Given the description of an element on the screen output the (x, y) to click on. 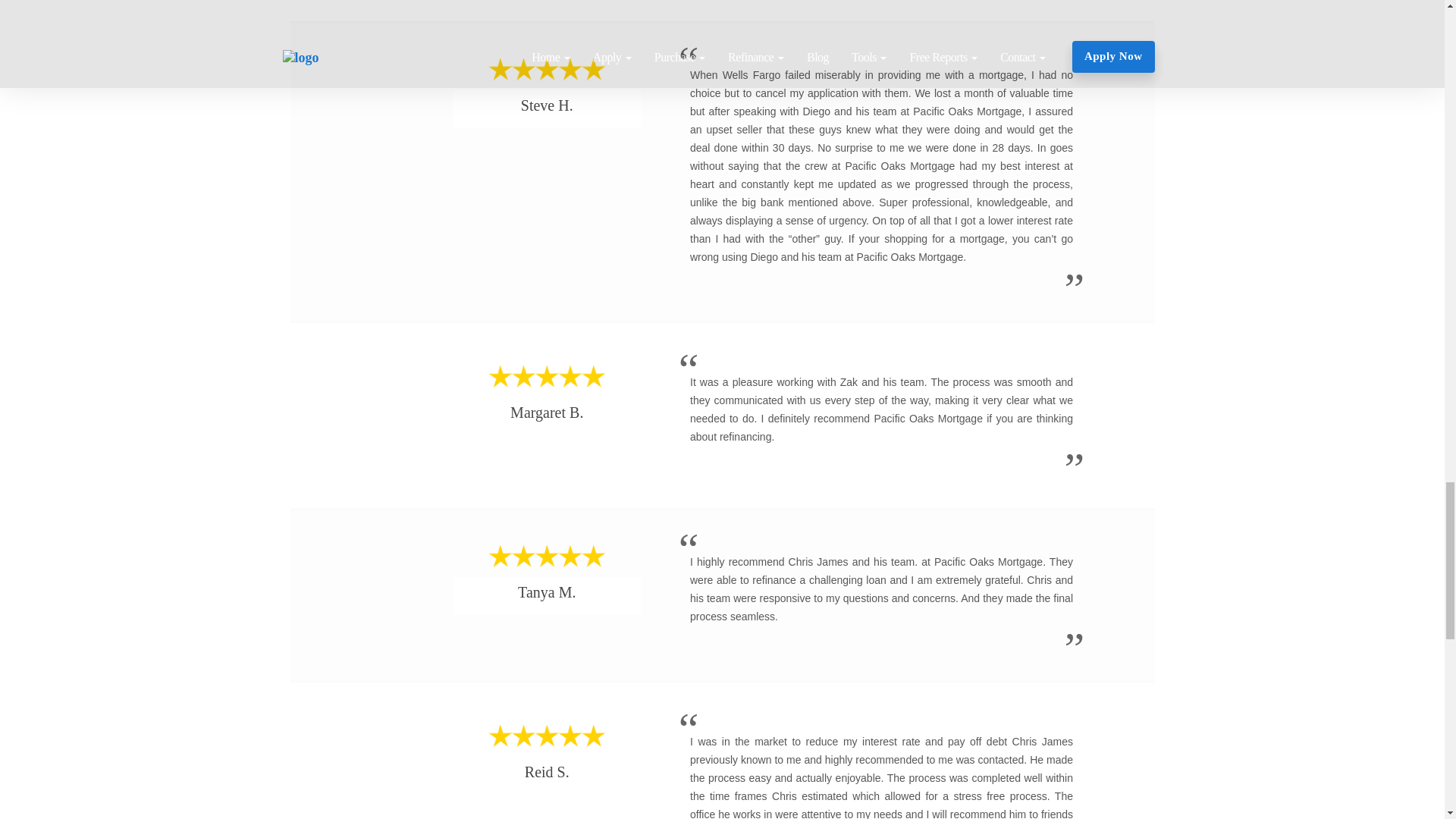
5 stars (546, 69)
5 stars (546, 556)
5 stars (546, 376)
5 stars (546, 736)
